Given the description of an element on the screen output the (x, y) to click on. 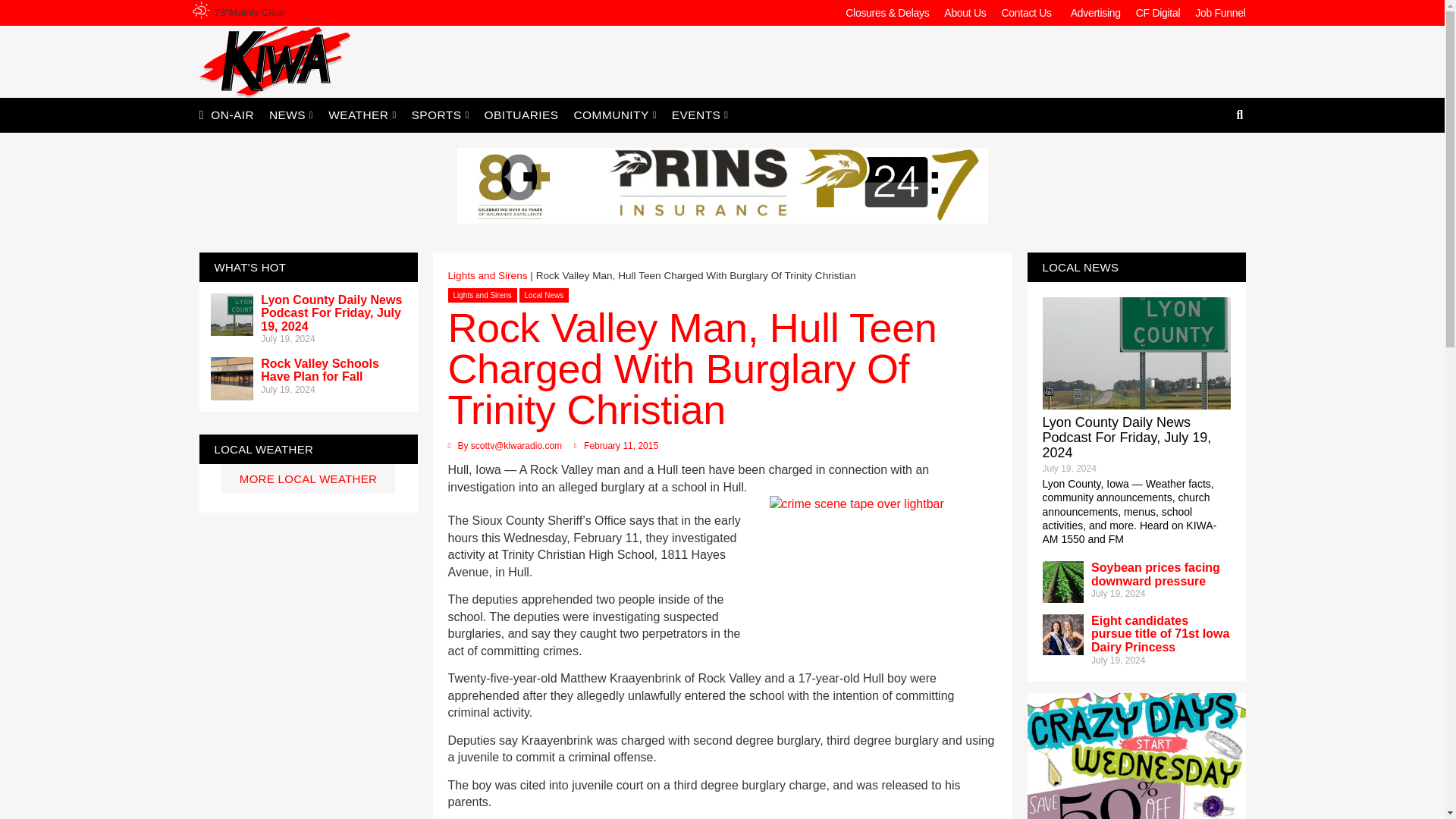
Contact Us (1028, 12)
EVENTS (699, 114)
Job Funnel (1220, 12)
WEATHER (361, 114)
Advertising (1095, 12)
CF Digital (1158, 12)
About Us (964, 12)
ON-AIR (232, 114)
SPORTS (440, 114)
COMMUNITY (614, 114)
NEWS (291, 114)
OBITUARIES (521, 114)
